Given the description of an element on the screen output the (x, y) to click on. 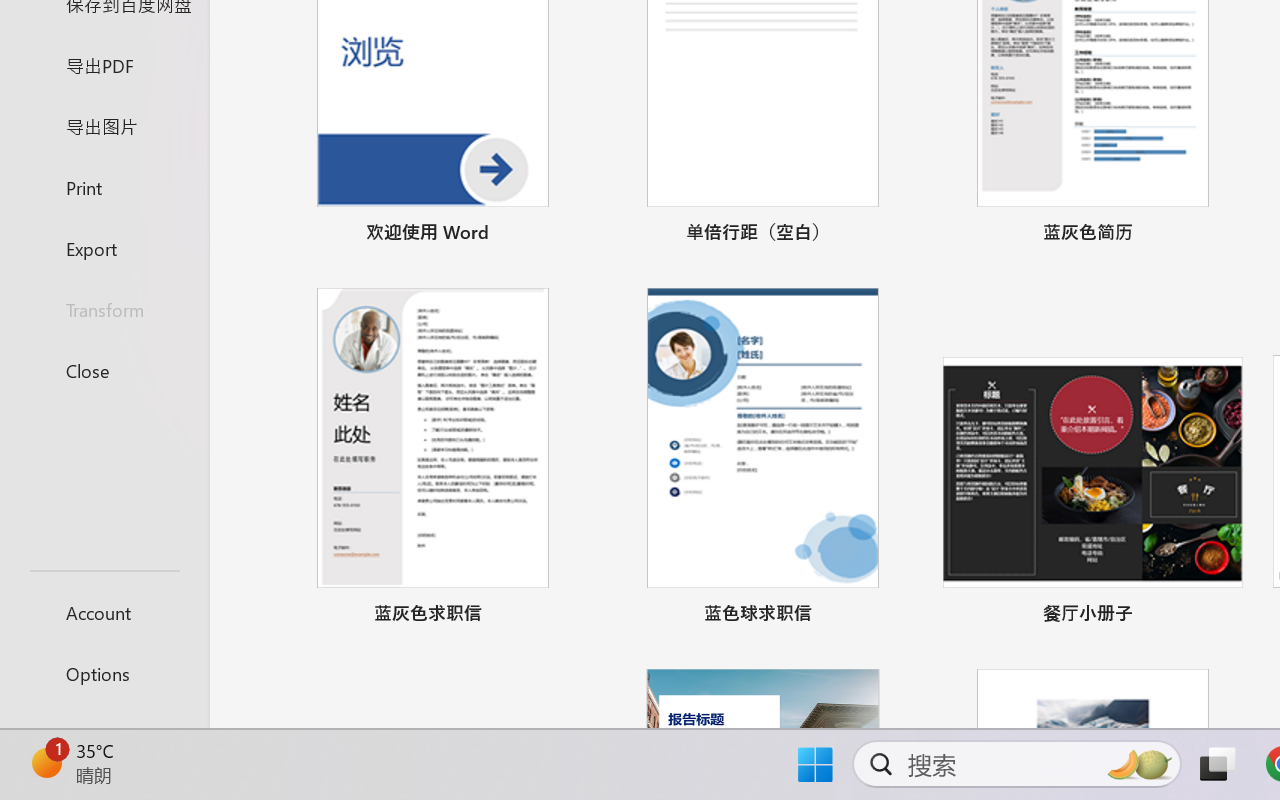
Options (104, 673)
